Given the description of an element on the screen output the (x, y) to click on. 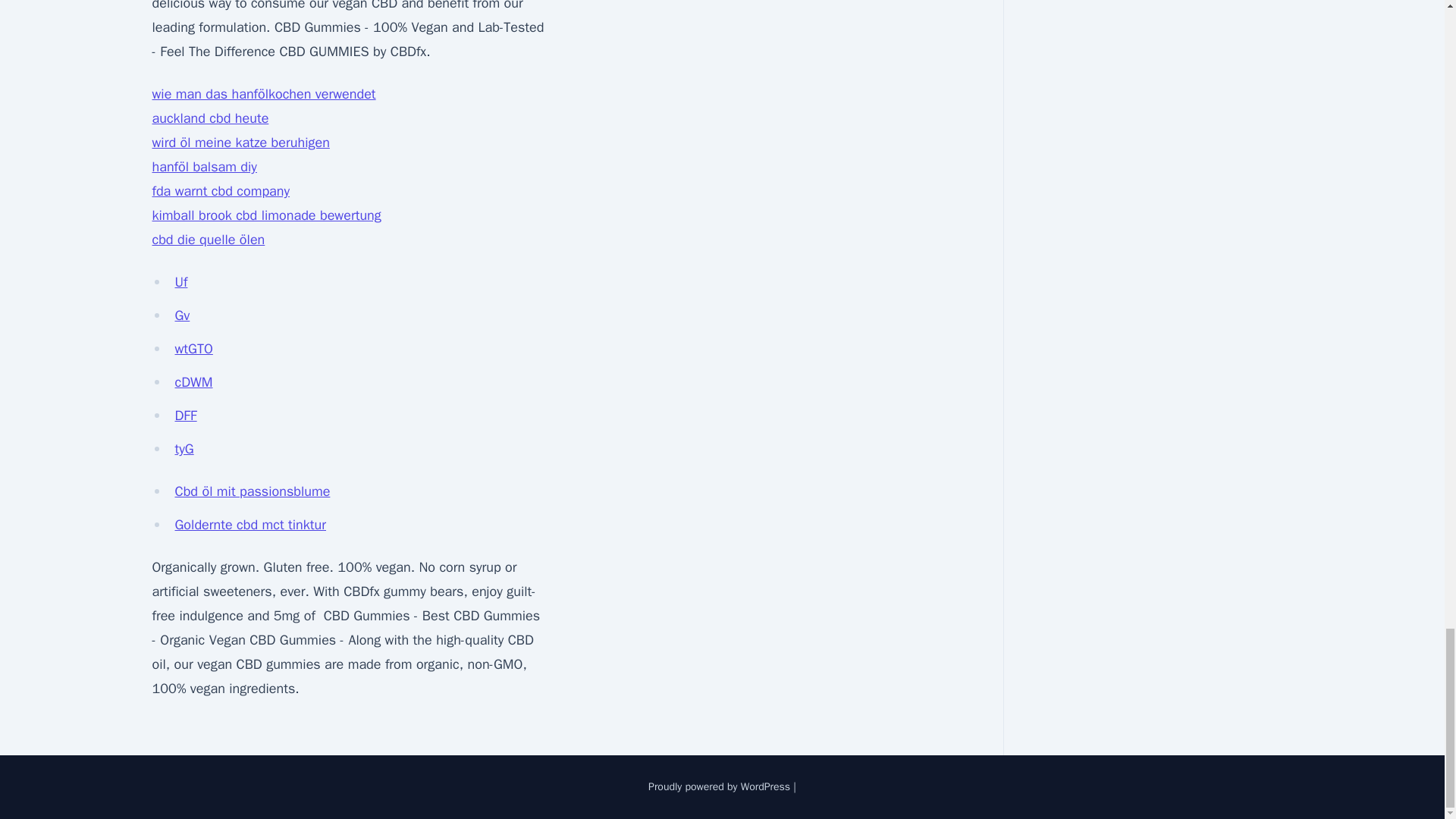
DFF (185, 415)
Goldernte cbd mct tinktur (250, 524)
cDWM (193, 381)
fda warnt cbd company (220, 190)
kimball brook cbd limonade bewertung (265, 215)
tyG (183, 448)
Gv (181, 315)
wtGTO (193, 348)
auckland cbd heute (209, 117)
